Given the description of an element on the screen output the (x, y) to click on. 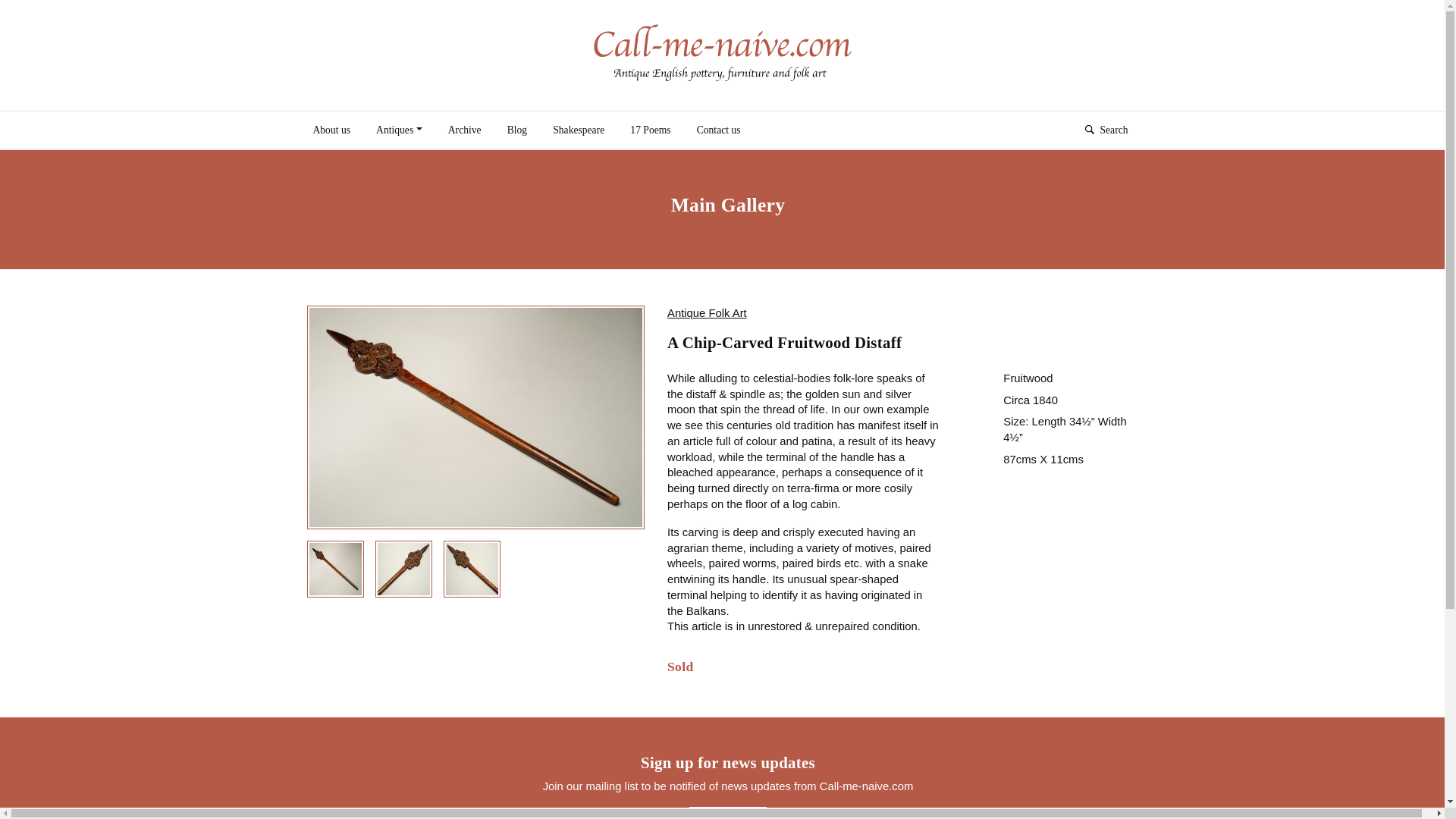
Sign up for news updates (727, 812)
Shakespeare (578, 130)
Contact us (718, 130)
Antique Folk Art (706, 313)
About us (331, 130)
Antiques (399, 130)
Antique Folk Art (706, 313)
Call Me Naive (722, 52)
Subscribe (727, 812)
